Given the description of an element on the screen output the (x, y) to click on. 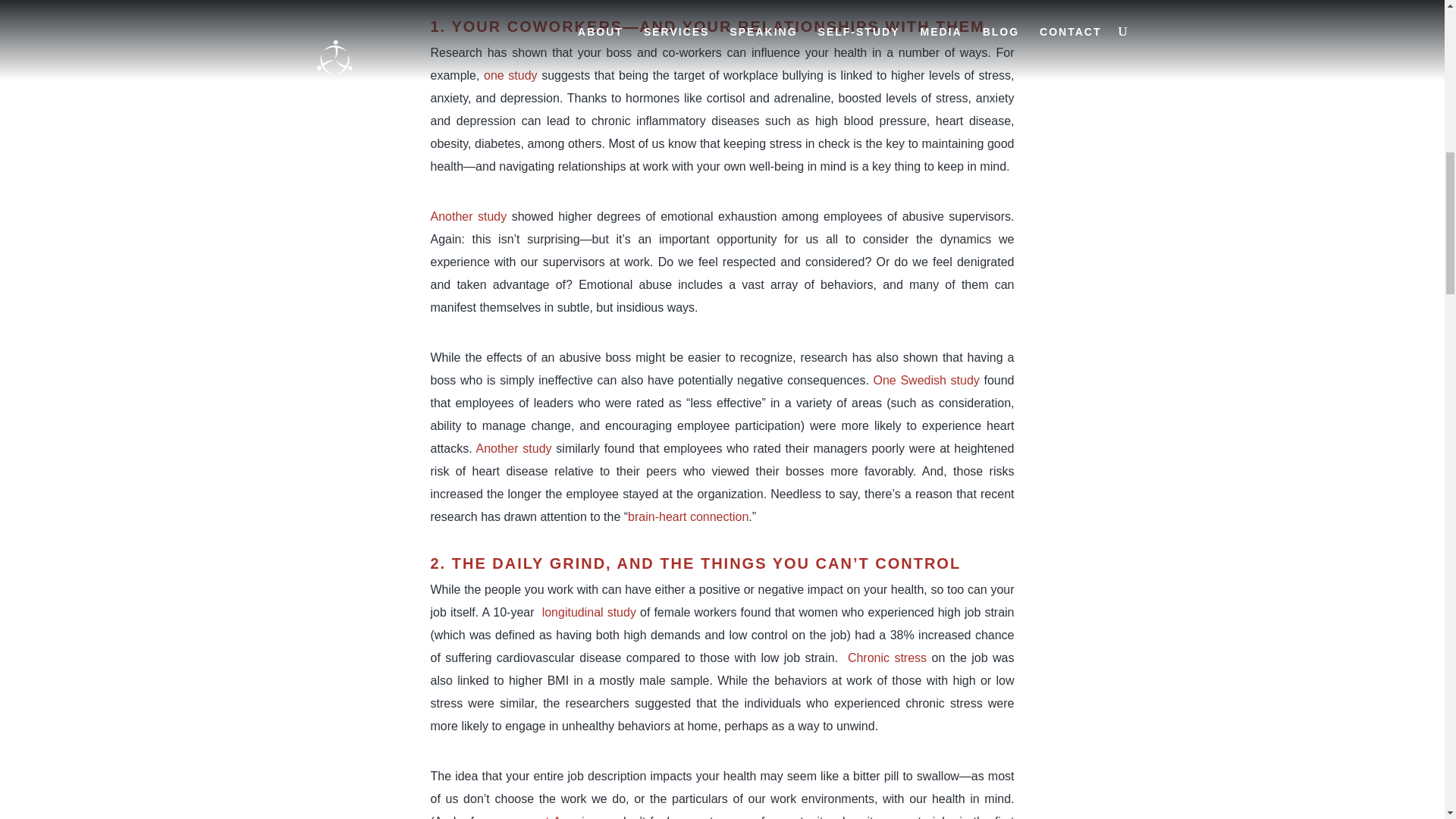
One Swedish study (926, 379)
brain-heart connection (687, 516)
one study (510, 74)
longitudinal study (588, 612)
most Americans (566, 816)
Another study (513, 448)
Another study (468, 215)
Chronic stress (886, 657)
